Given the description of an element on the screen output the (x, y) to click on. 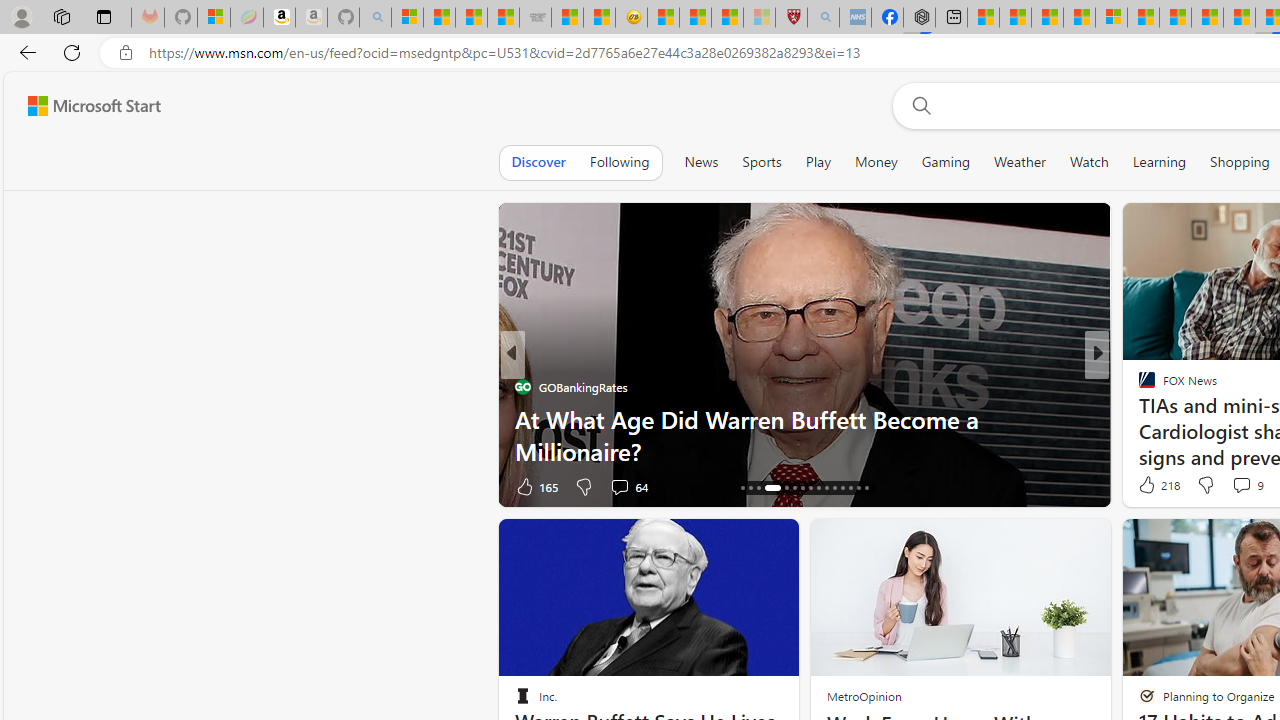
View comments 9 Comment (1241, 485)
AutomationID: tab-28 (850, 487)
View comments 5 Comment (1229, 485)
